Given the description of an element on the screen output the (x, y) to click on. 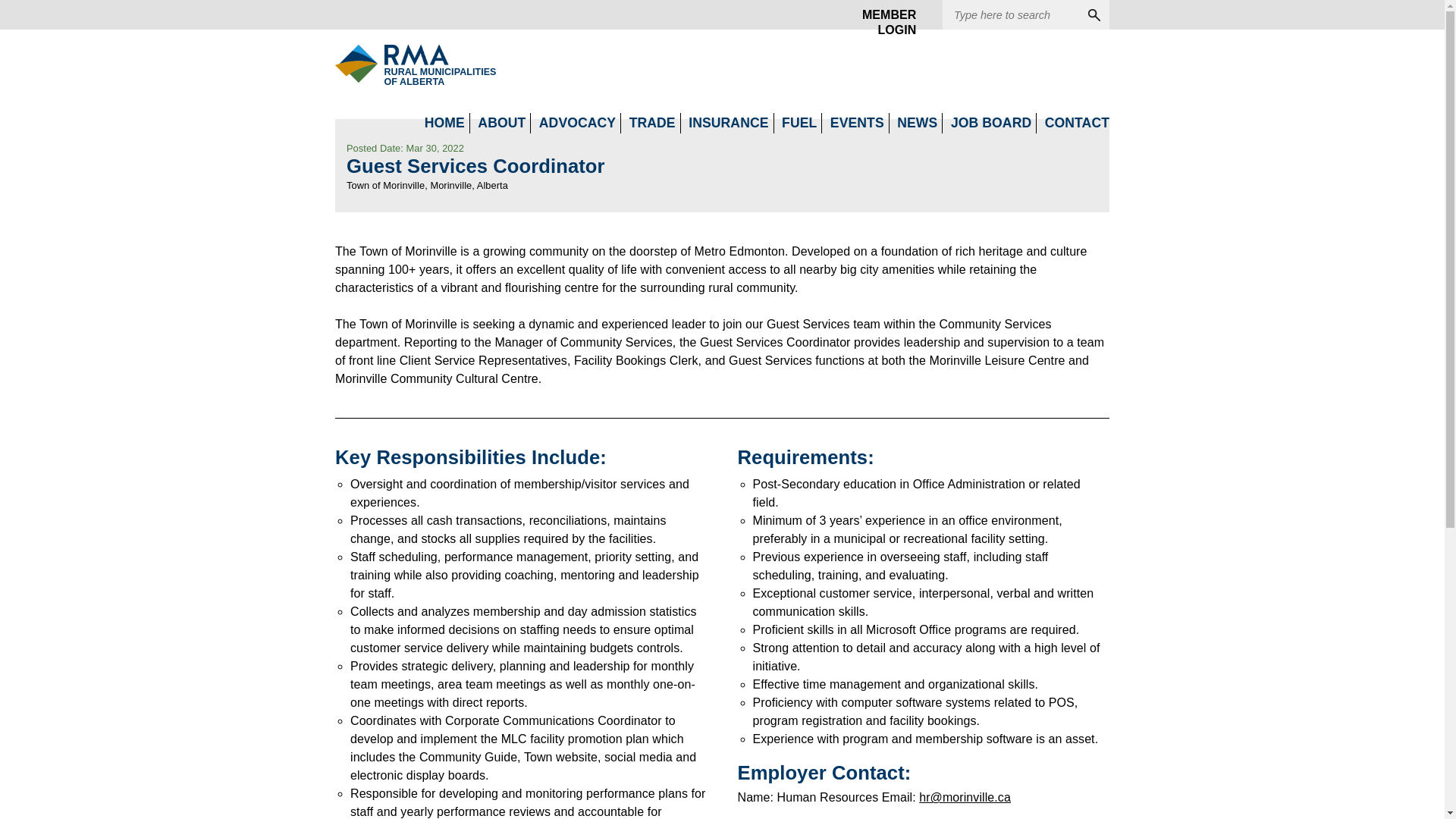
MEMBER LOGIN (883, 14)
INSURANCE (391, 63)
HOME (728, 122)
ABOUT (444, 122)
ADVOCACY (501, 122)
TRADE (576, 122)
